Given the description of an element on the screen output the (x, y) to click on. 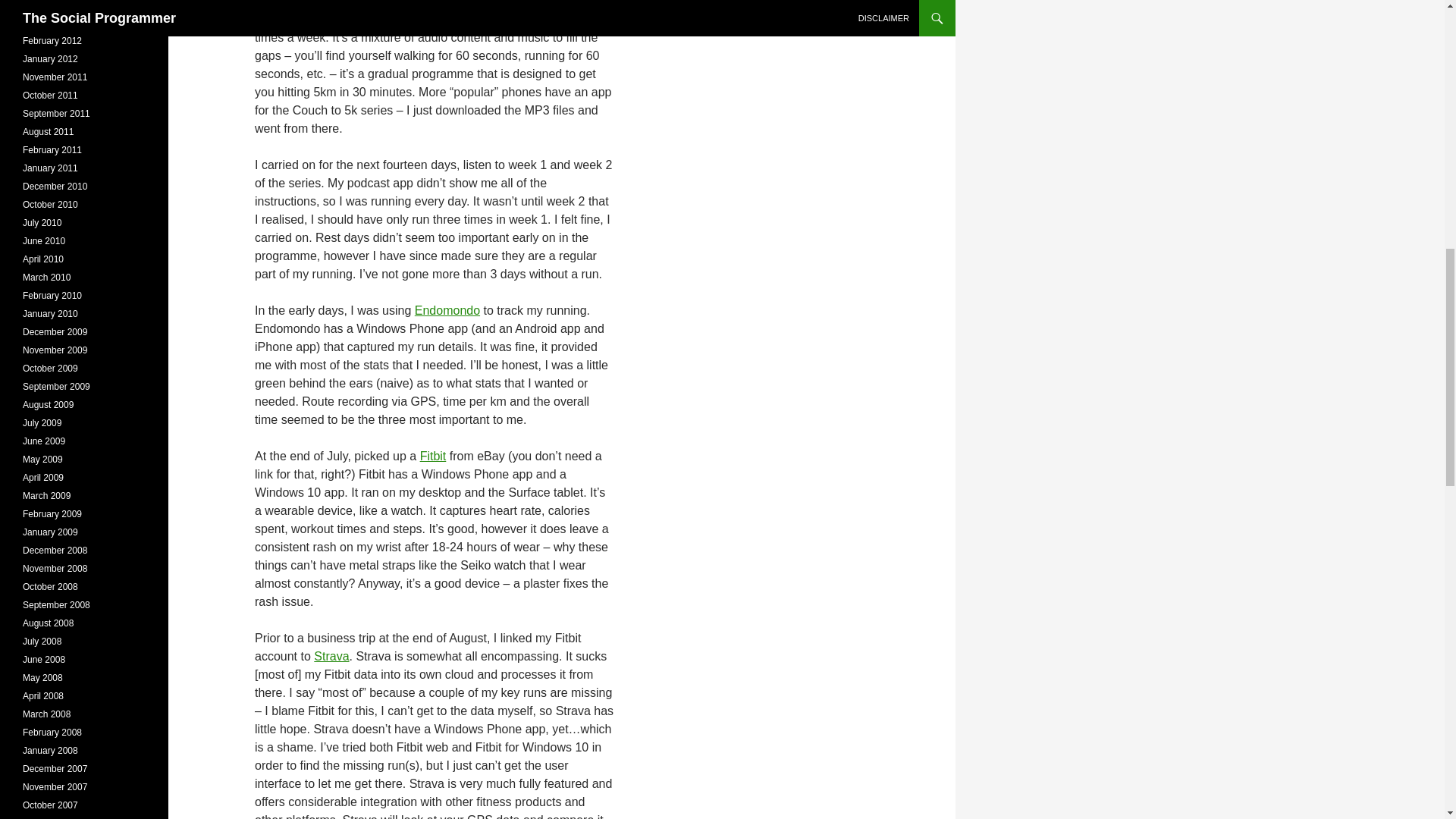
Endomondo (447, 309)
April 2012 (43, 22)
Fitbit (433, 455)
July 2012 (42, 4)
Strava (331, 656)
